Given the description of an element on the screen output the (x, y) to click on. 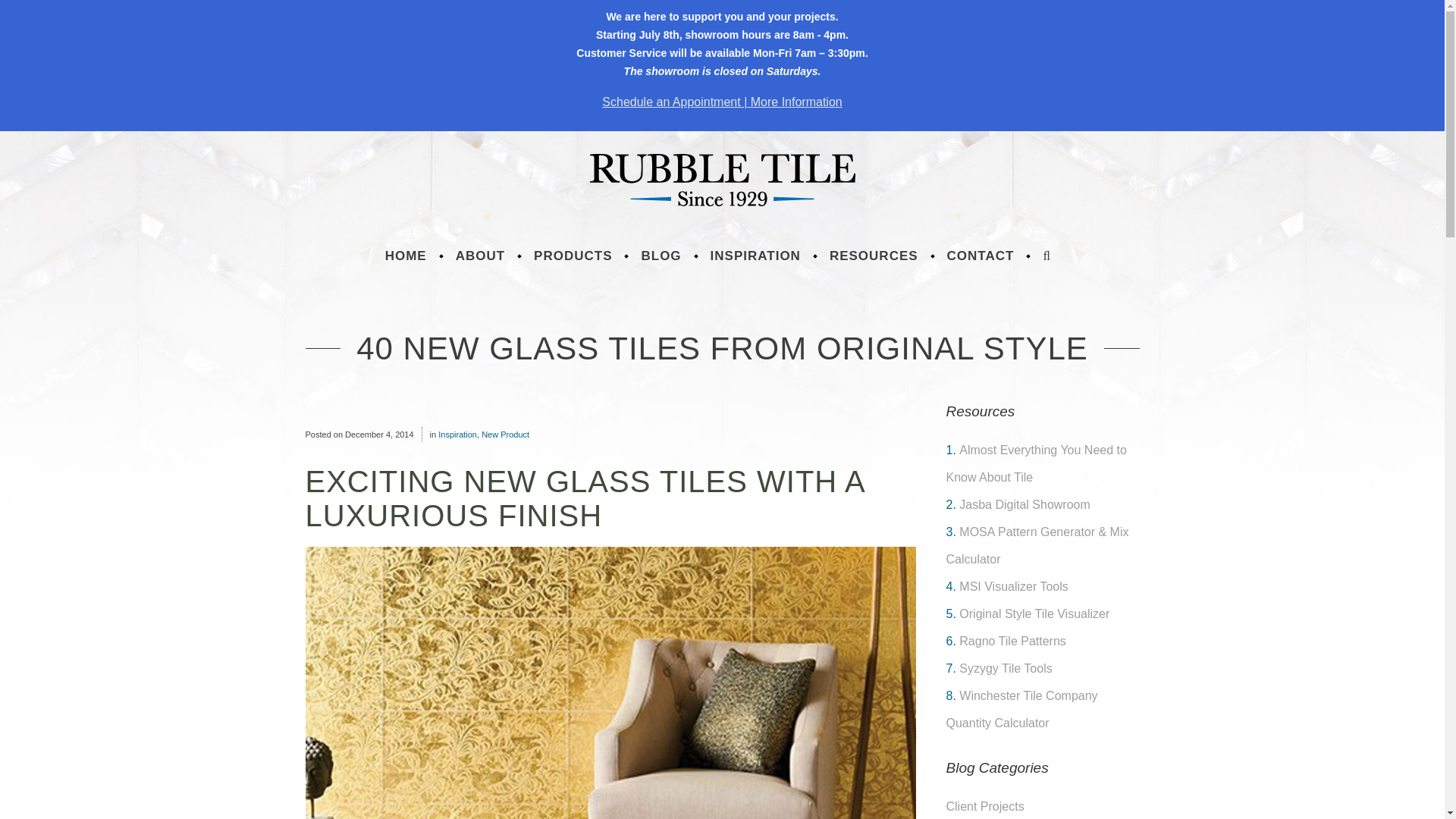
BLOG (660, 256)
INSPIRATION (755, 256)
CONTACT (981, 256)
HOME (406, 256)
PRODUCTS (572, 256)
ABOUT (480, 256)
RESOURCES (874, 256)
